Given the description of an element on the screen output the (x, y) to click on. 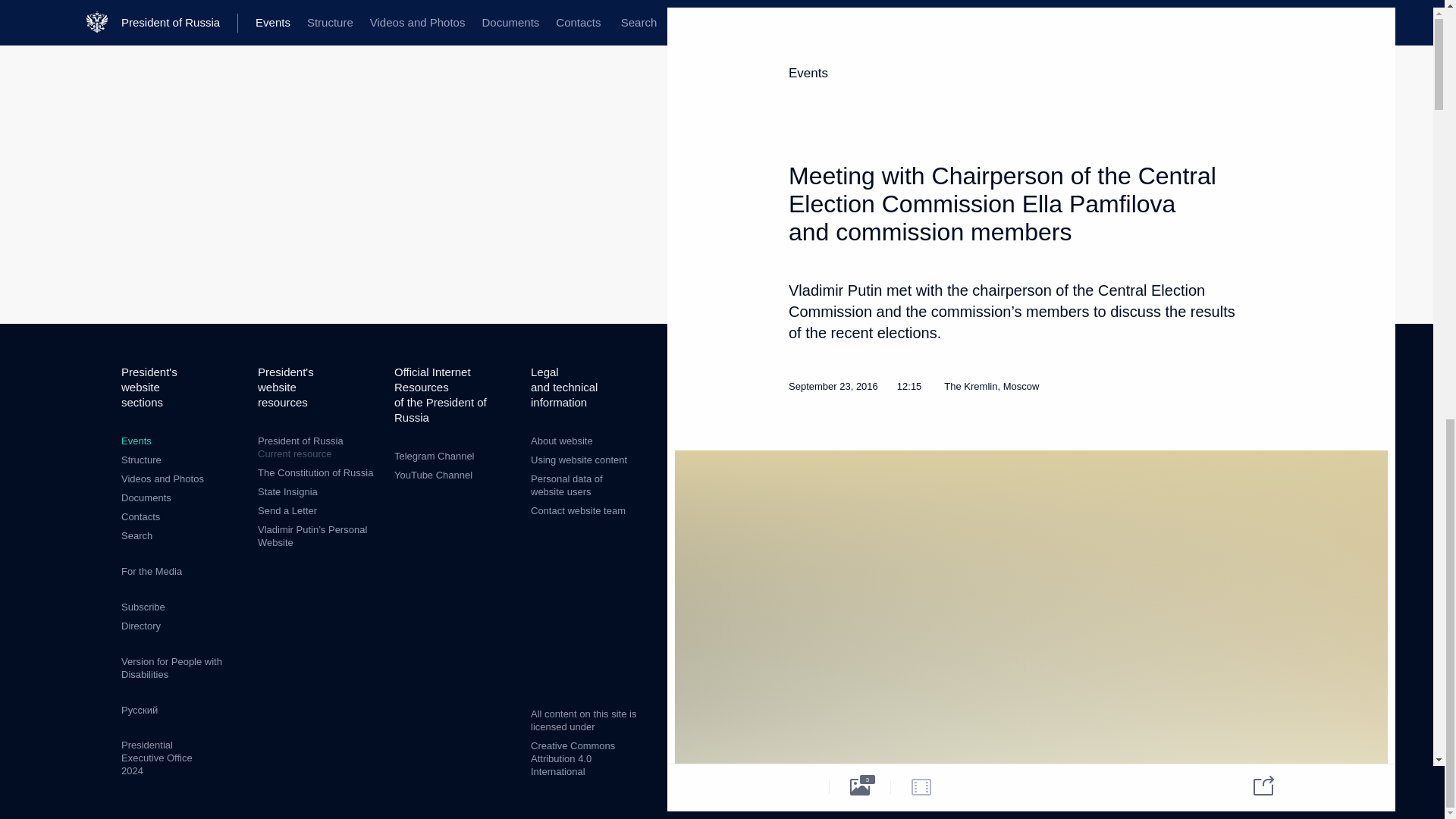
Send a Letter (287, 510)
Structure (140, 460)
Using website content (579, 460)
Creative Commons Attribution 4.0 International (572, 758)
The Constitution of Russia (314, 472)
YouTube Channel (432, 474)
Events (135, 440)
Videos and Photos (161, 478)
Contacts (140, 516)
Search (136, 535)
Documents (145, 497)
For the Media (151, 571)
Version for People with Disabilities (171, 668)
Directory (140, 625)
